Given the description of an element on the screen output the (x, y) to click on. 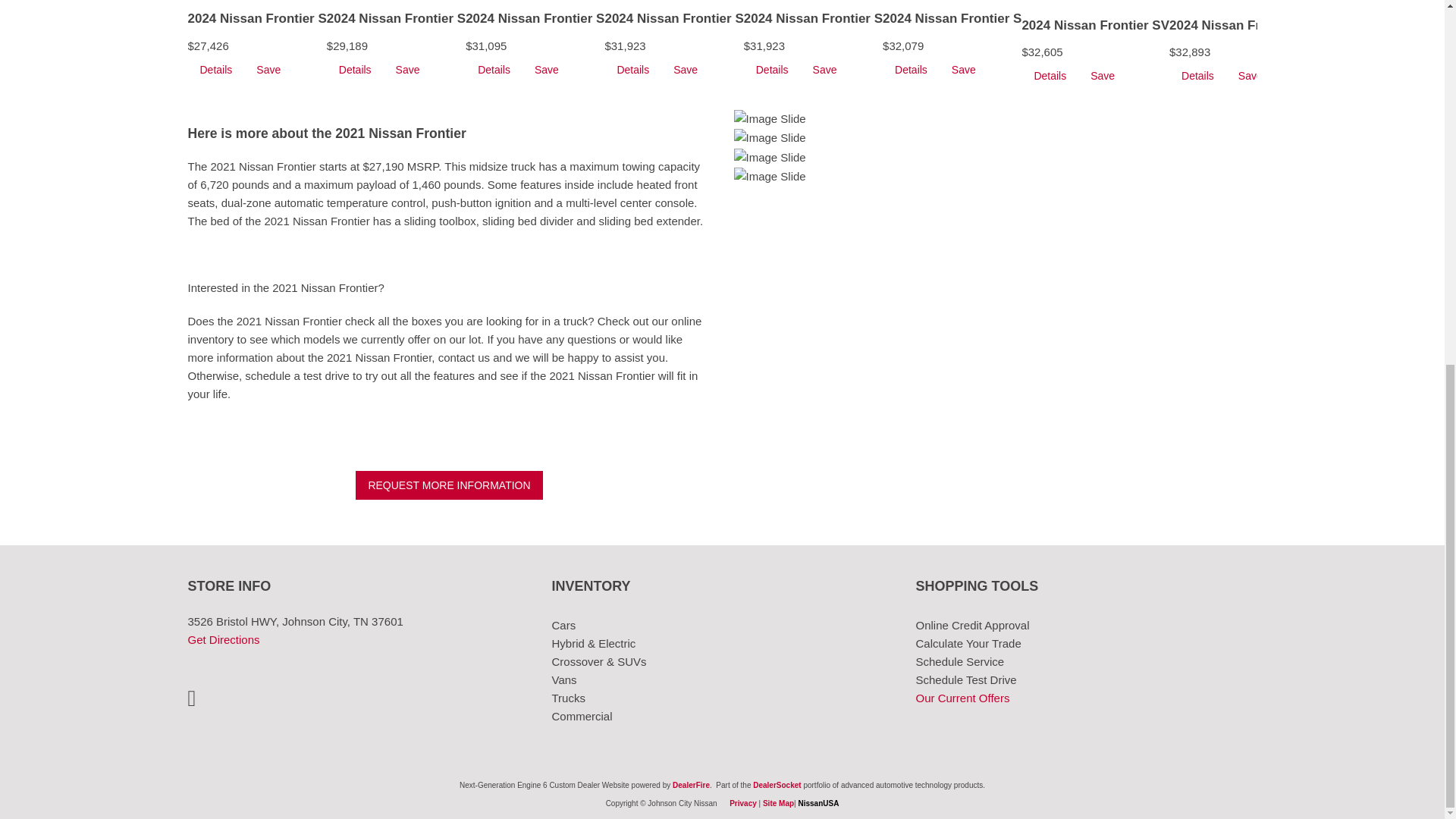
Image Slide (769, 157)
Image Slide (769, 118)
Image Slide (769, 176)
Image Slide (769, 137)
